Given the description of an element on the screen output the (x, y) to click on. 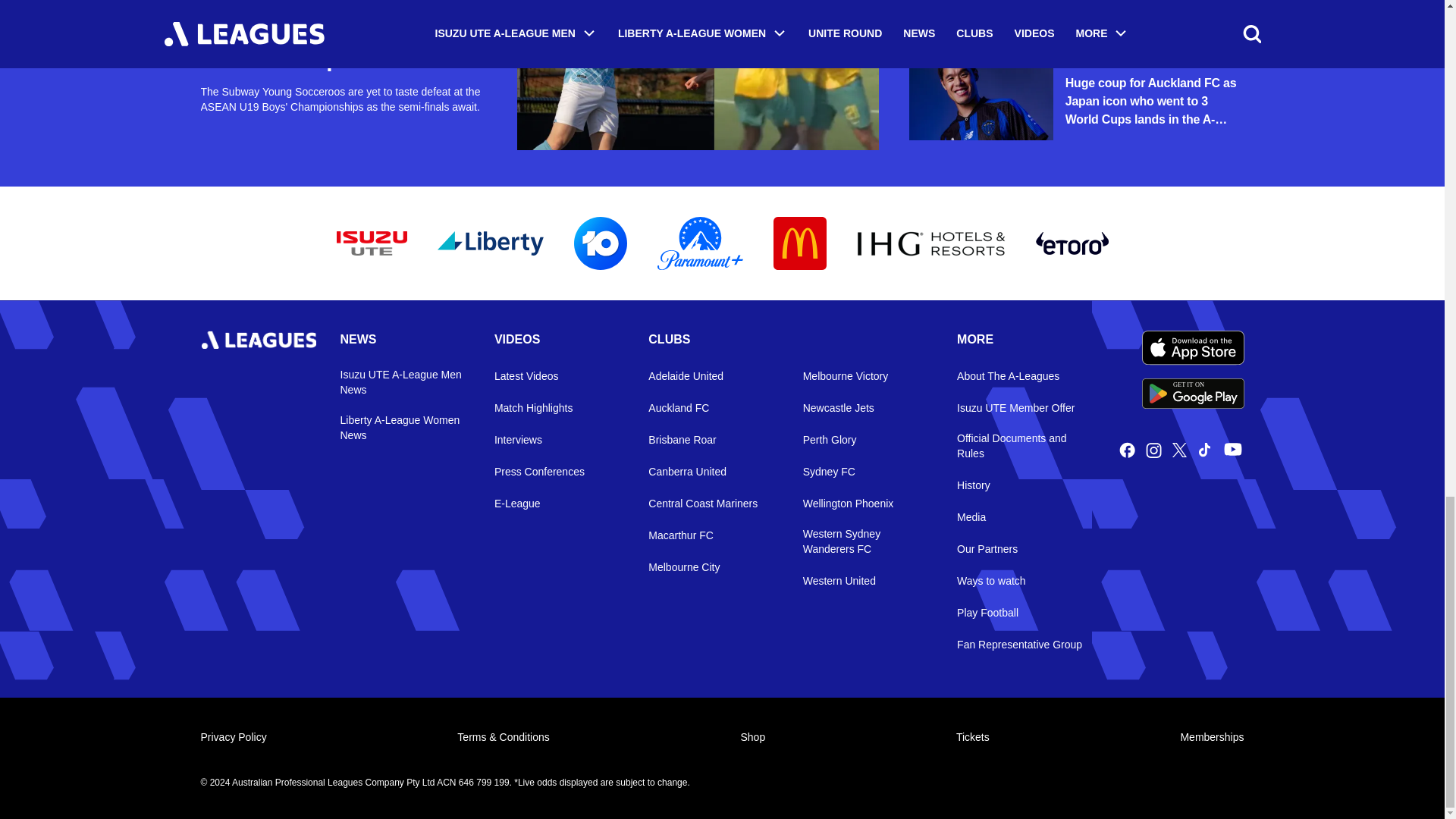
McDonalds (800, 243)
Liberty (489, 242)
IHG (931, 243)
Paramount (699, 243)
Isuzu UTE (1192, 392)
Channel 10 (371, 242)
eToro (599, 243)
